Given the description of an element on the screen output the (x, y) to click on. 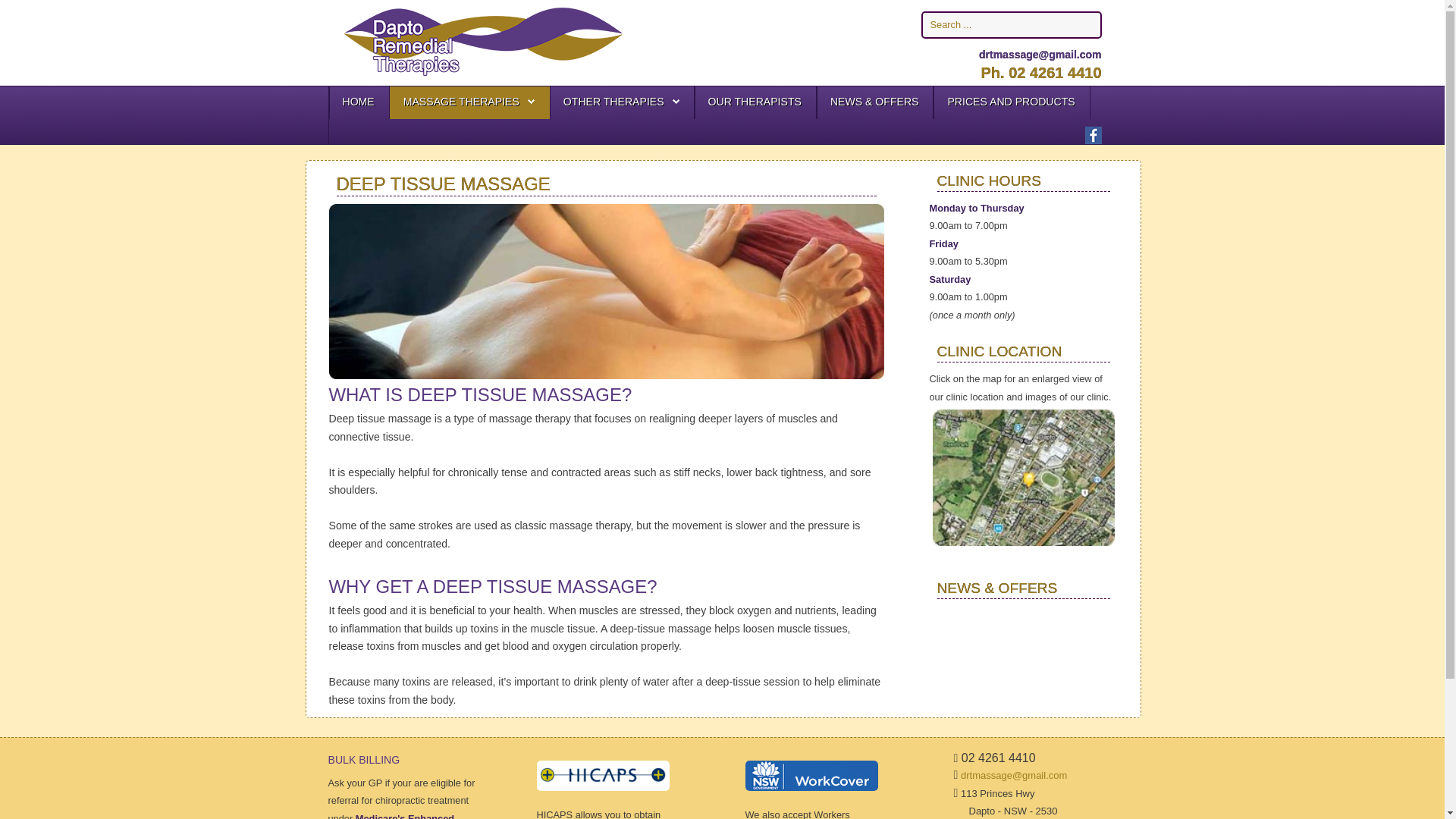
HOME Element type: text (358, 101)
OTHER THERAPIES Element type: text (613, 101)
OUR THERAPISTS Element type: text (754, 101)
PRICES AND PRODUCTS Element type: text (1010, 101)
MASSAGE THERAPIES Element type: text (461, 101)
OTHER THERAPIES Element type: text (621, 101)
Clinic Location Element type: hover (1023, 477)
drtmassage@gmail.com Element type: text (1040, 55)
drtmassage@gmail.com Element type: text (1013, 775)
NEWS & OFFERS Element type: text (874, 101)
MASSAGE THERAPIES Element type: text (468, 101)
